Given the description of an element on the screen output the (x, y) to click on. 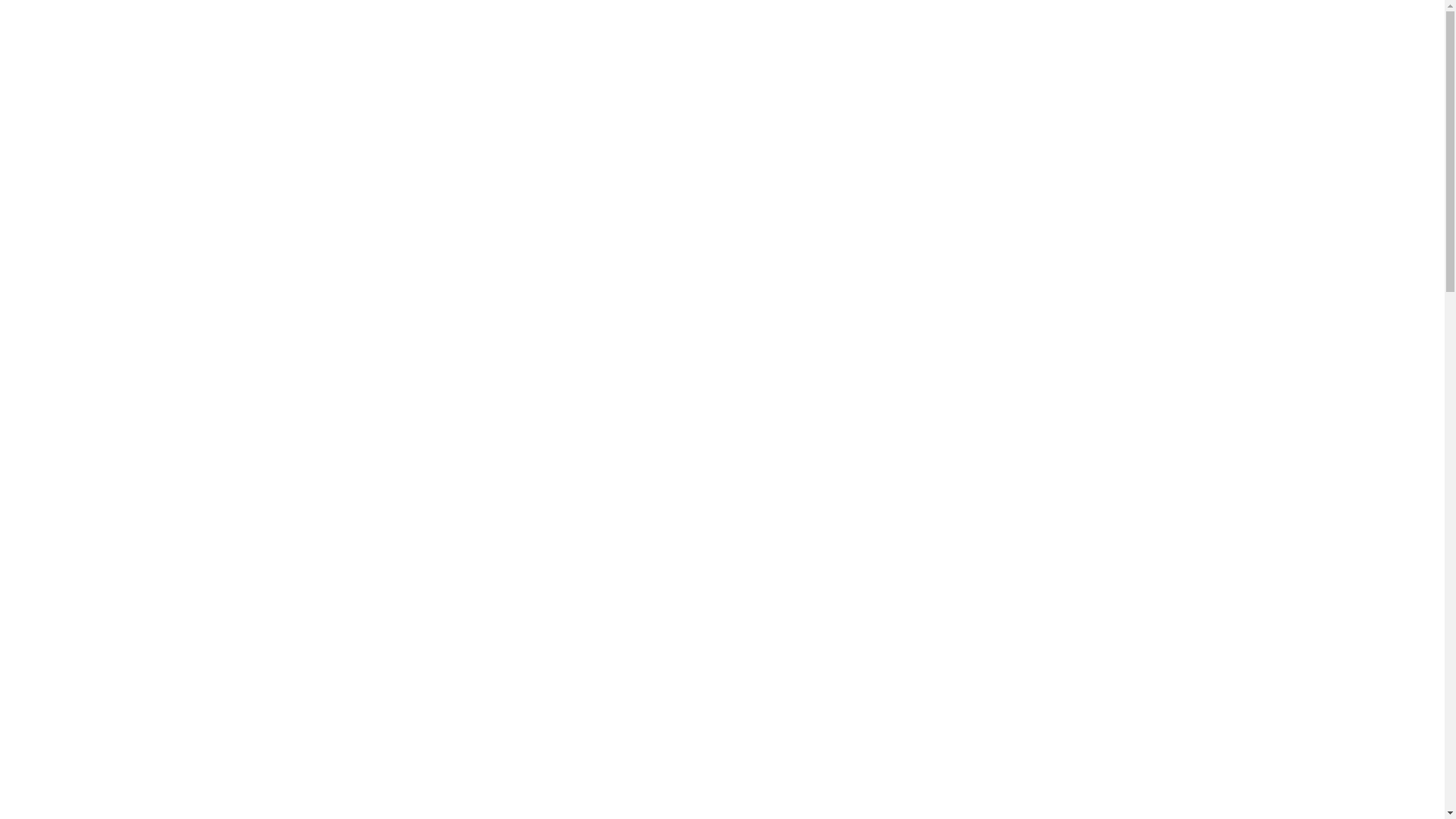
0 Element type: text (1106, 57)
ko Element type: text (1036, 172)
35SUMMERS Element type: text (721, 55)
it Element type: text (1036, 195)
fr Element type: text (1036, 127)
zh-CN Element type: text (1036, 150)
ja Element type: text (1036, 105)
en Element type: text (1036, 217)
